Given the description of an element on the screen output the (x, y) to click on. 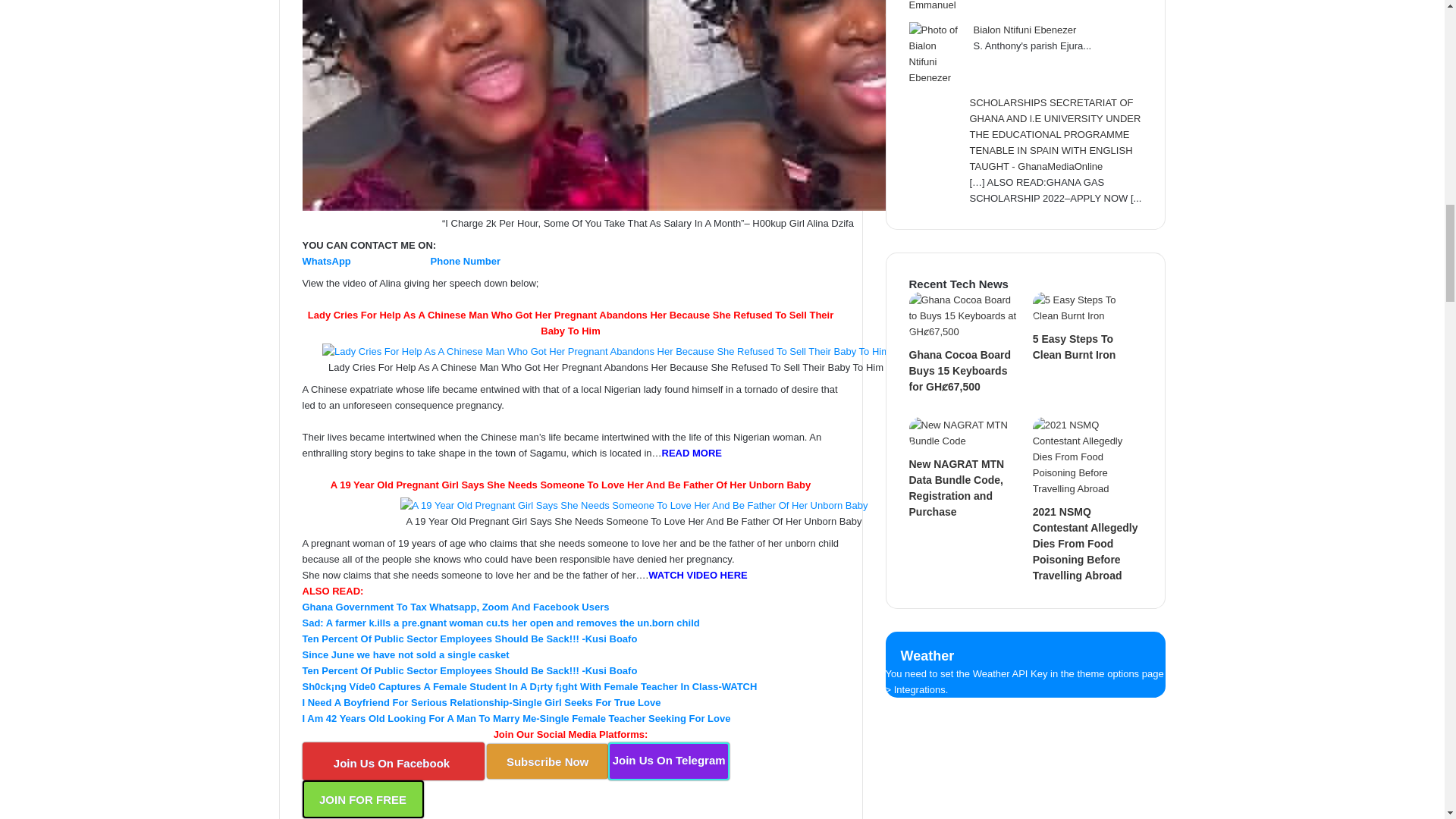
Subscribe Now (547, 760)
Join Us On Facebook (392, 761)
Join Us On Telegram (668, 761)
JOIN FOR FREE (362, 799)
